Given the description of an element on the screen output the (x, y) to click on. 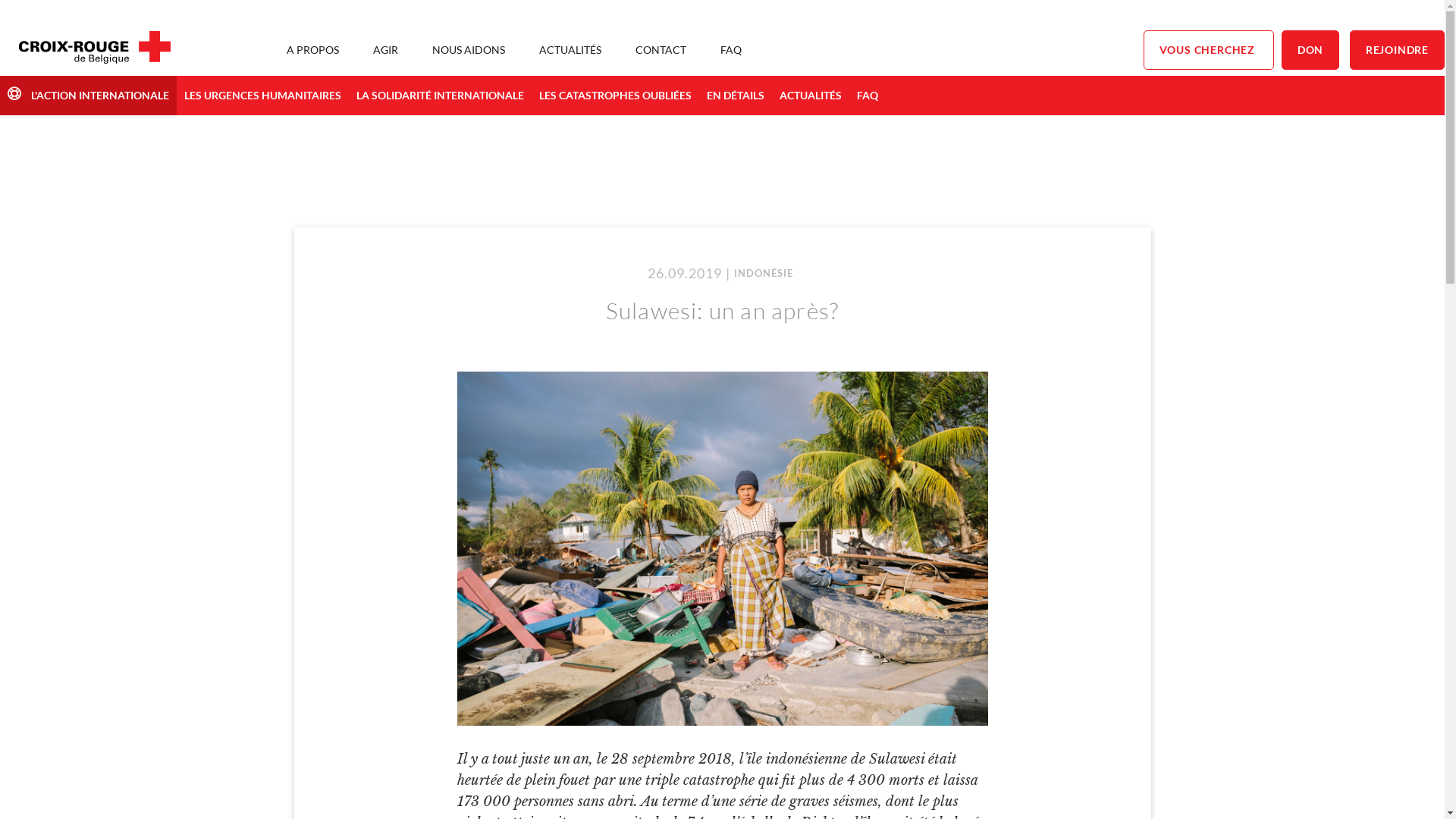
DON Element type: text (1310, 49)
CONTACT Element type: text (660, 49)
NOUS AIDONS Element type: text (468, 49)
L'ACTION INTERNATIONALE Element type: text (88, 95)
FAQ Element type: text (730, 49)
A PROPOS Element type: text (312, 49)
FAQ Element type: text (867, 95)
REJOINDRE Element type: text (1396, 49)
AGIR Element type: text (385, 49)
LES URGENCES HUMANITAIRES Element type: text (262, 95)
VOUS CHERCHEZ Element type: text (1208, 49)
